Given the description of an element on the screen output the (x, y) to click on. 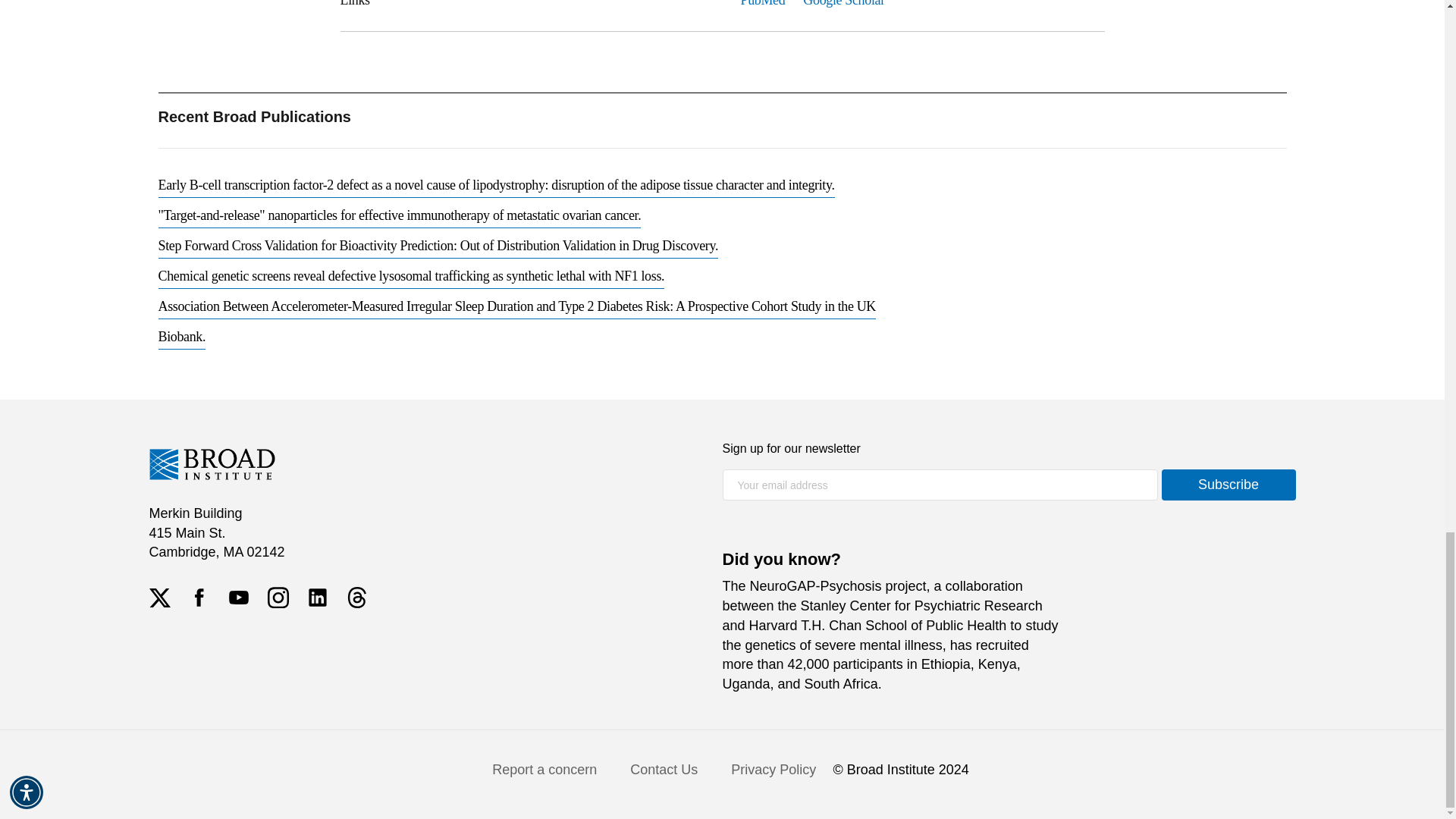
Subscribe (1228, 484)
